Given the description of an element on the screen output the (x, y) to click on. 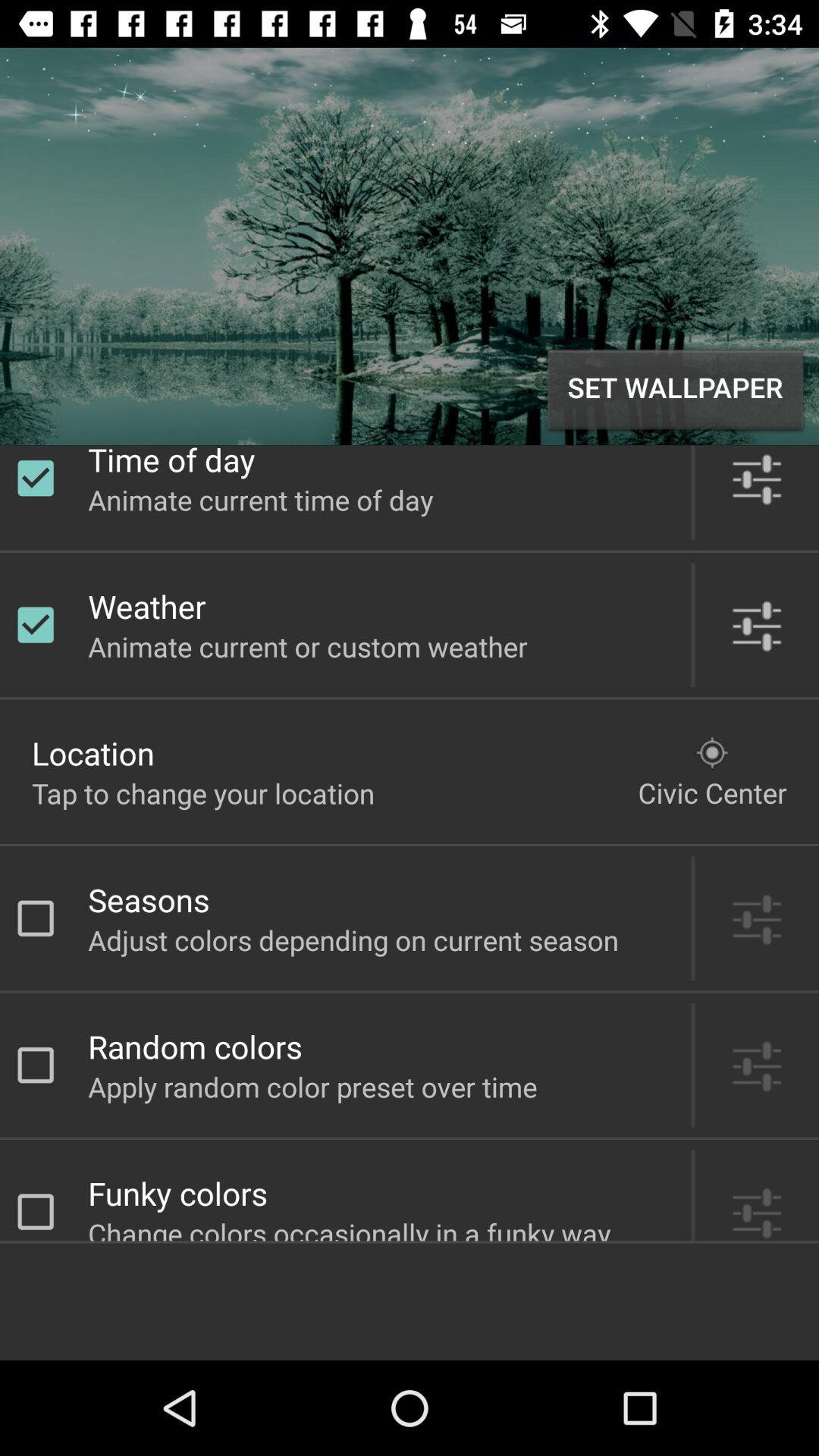
click on set wallpaper (675, 390)
